Given the description of an element on the screen output the (x, y) to click on. 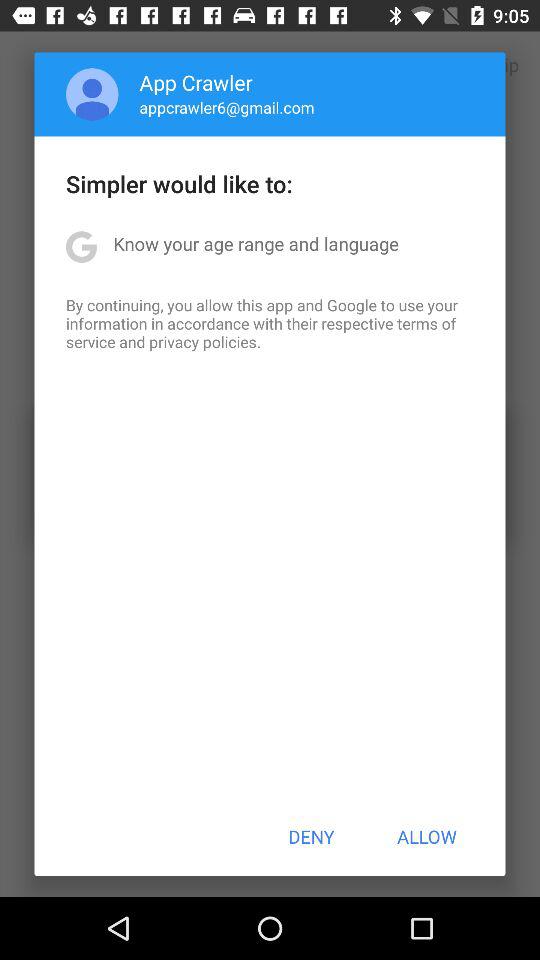
tap item at the bottom (311, 836)
